Given the description of an element on the screen output the (x, y) to click on. 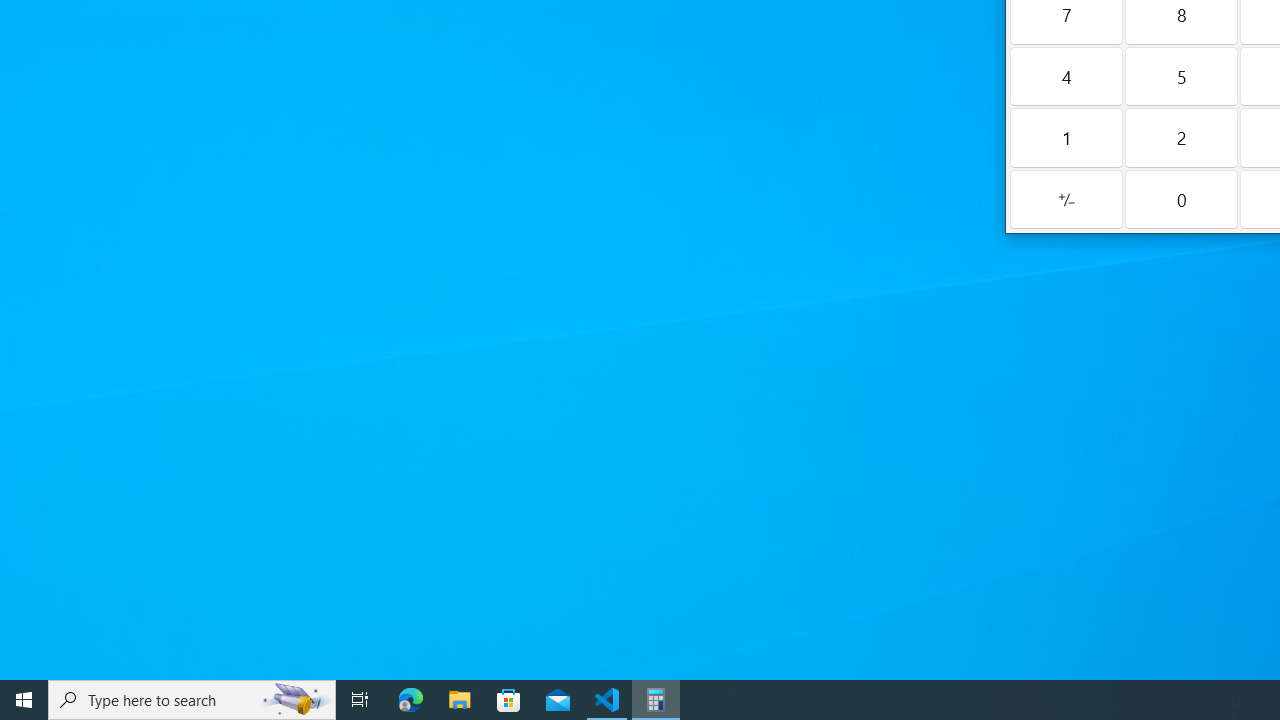
Four (1065, 75)
Visual Studio Code - 1 running window (607, 699)
Positive negative (1065, 198)
Zero (1181, 198)
Calculator - 1 running window (656, 699)
One (1065, 137)
File Explorer (460, 699)
Type here to search (191, 699)
Microsoft Store (509, 699)
Start (24, 699)
Five (1181, 75)
Search highlights icon opens search home window (295, 699)
Two (1181, 137)
Microsoft Edge (411, 699)
